Given the description of an element on the screen output the (x, y) to click on. 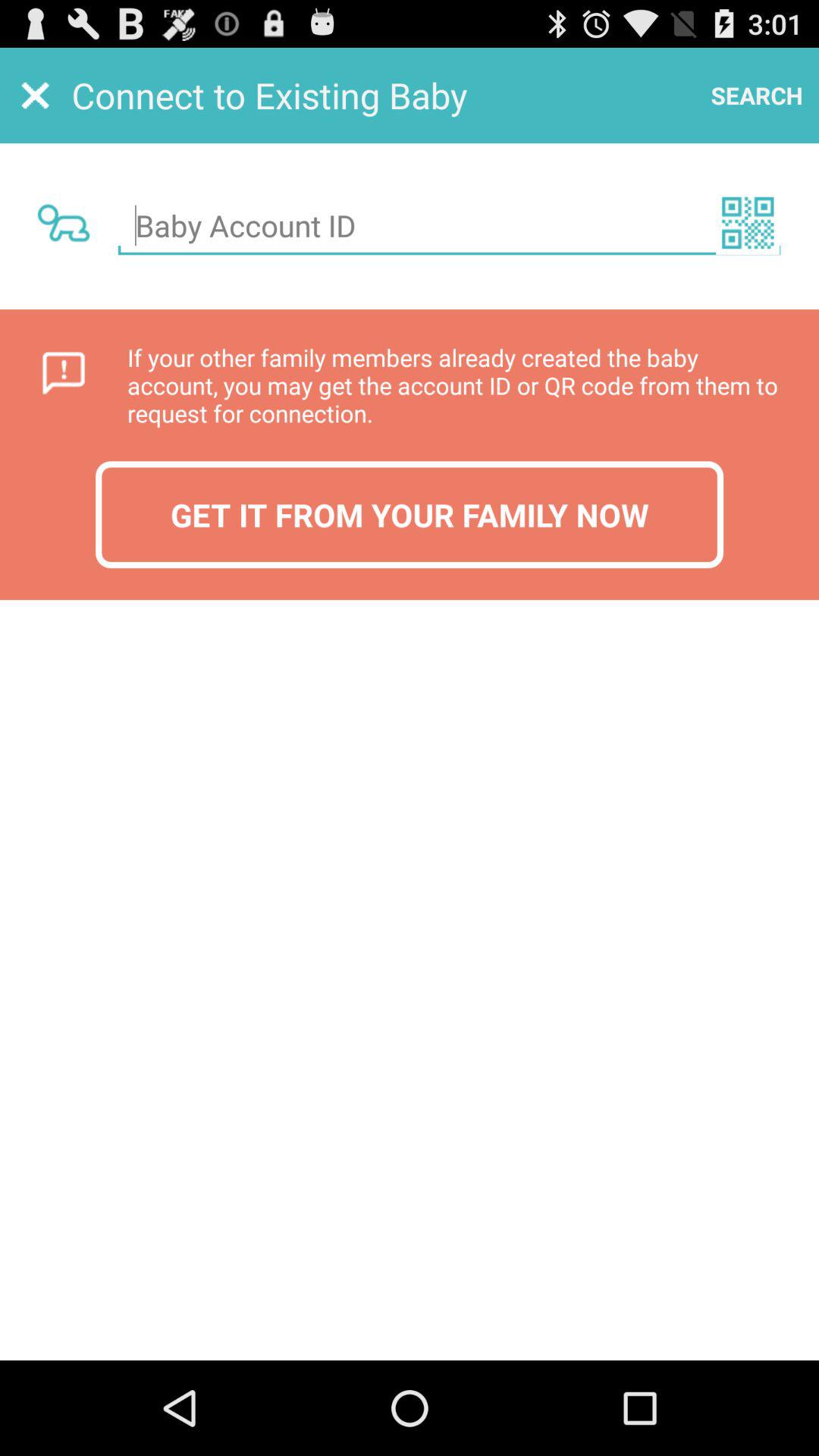
check the or code (747, 222)
